Given the description of an element on the screen output the (x, y) to click on. 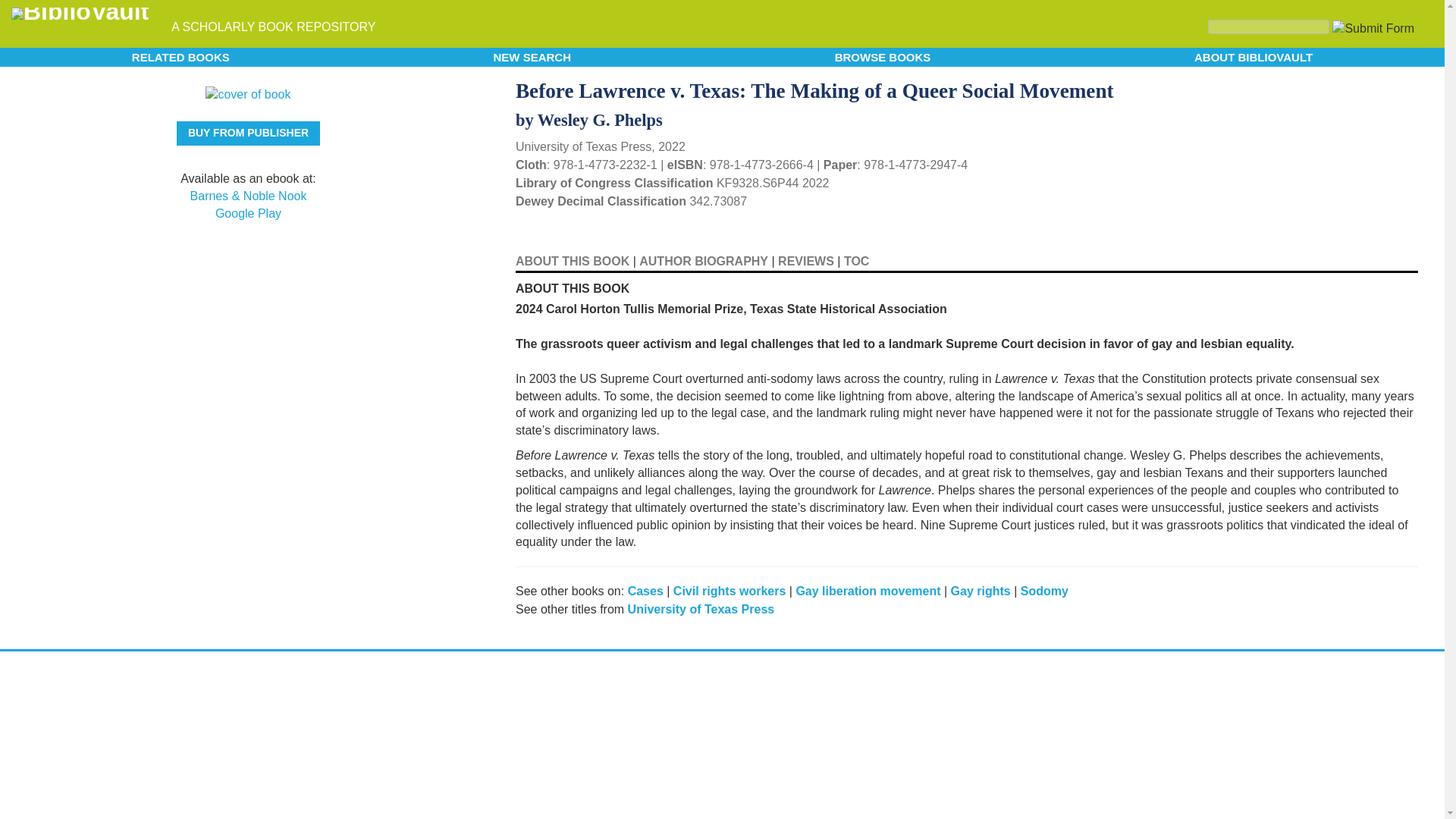
Send as an email (1404, 87)
Share on Twitter (1358, 86)
BUY FROM PUBLISHER (248, 133)
BROWSE BOOKS (882, 56)
Search (1268, 26)
RELATED BOOKS (180, 56)
Share on Facebook (1384, 90)
NEW SEARCH (532, 56)
Google Play (248, 213)
